Given the description of an element on the screen output the (x, y) to click on. 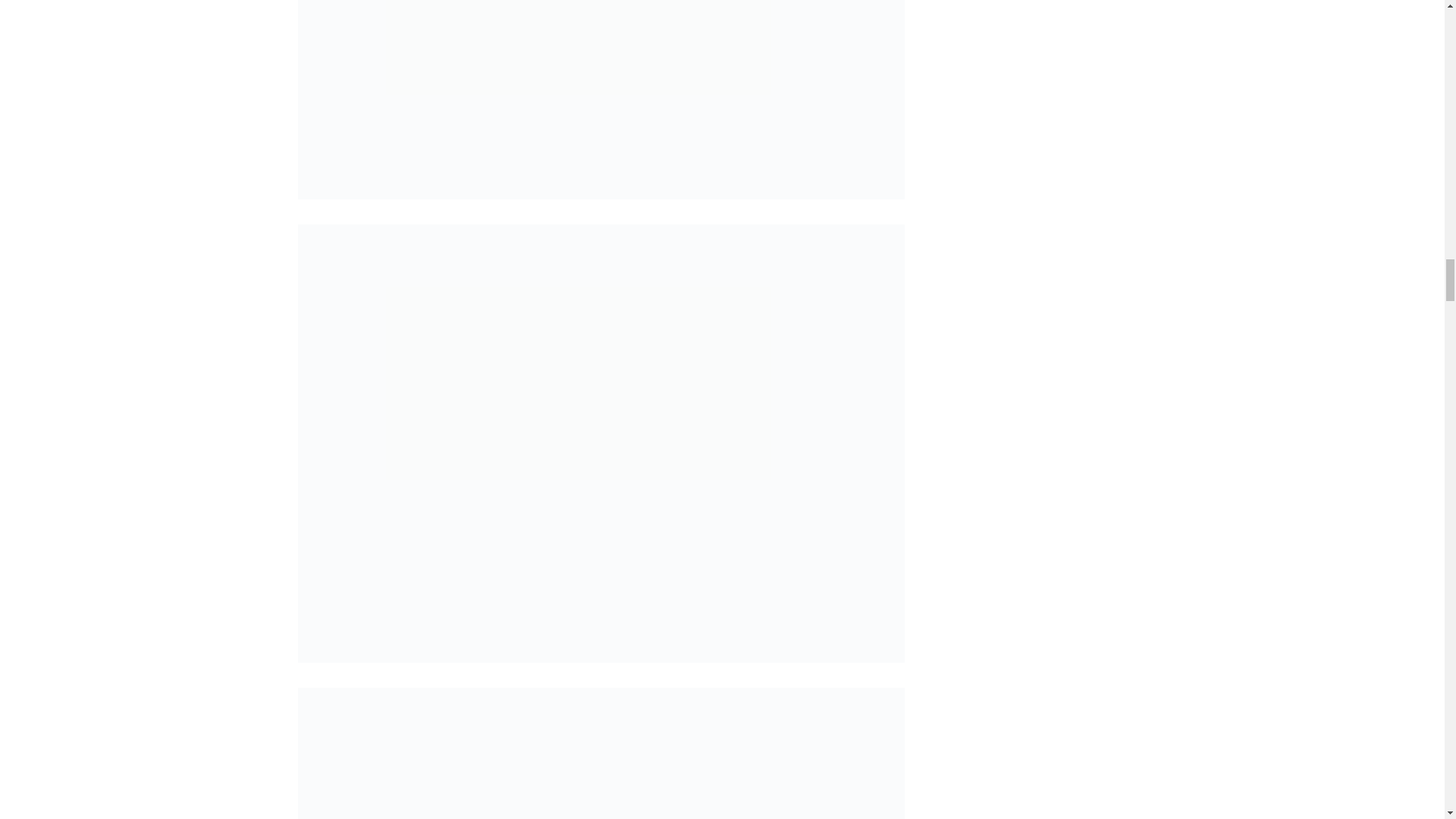
Wengenn little picasso (600, 99)
Wengenn magic sail ride (600, 753)
